Given the description of an element on the screen output the (x, y) to click on. 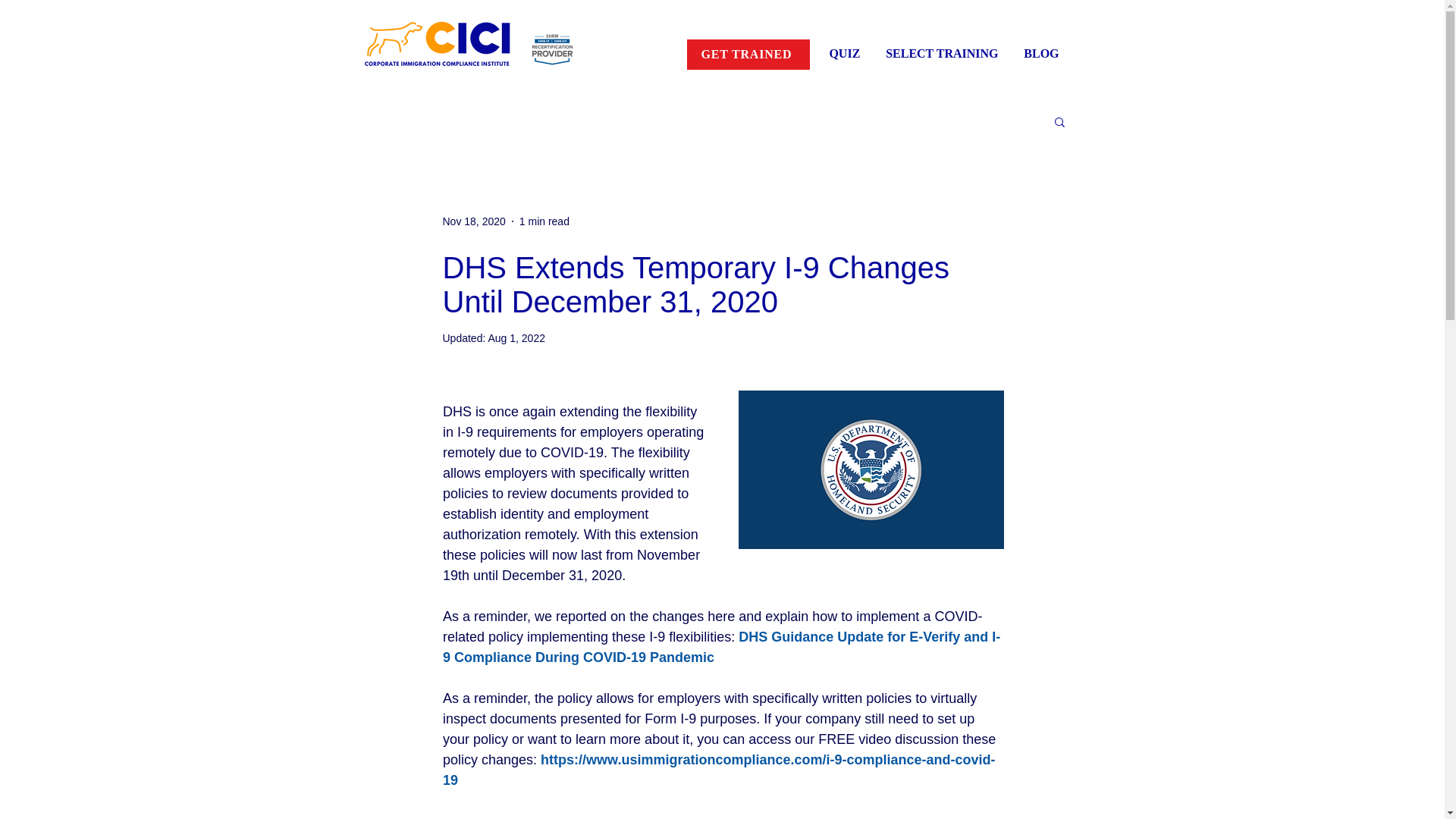
BLOG (1040, 53)
Aug 1, 2022 (515, 337)
GET TRAINED (748, 54)
QUIZ (843, 53)
Nov 18, 2020 (473, 221)
1 min read (544, 221)
